Given the description of an element on the screen output the (x, y) to click on. 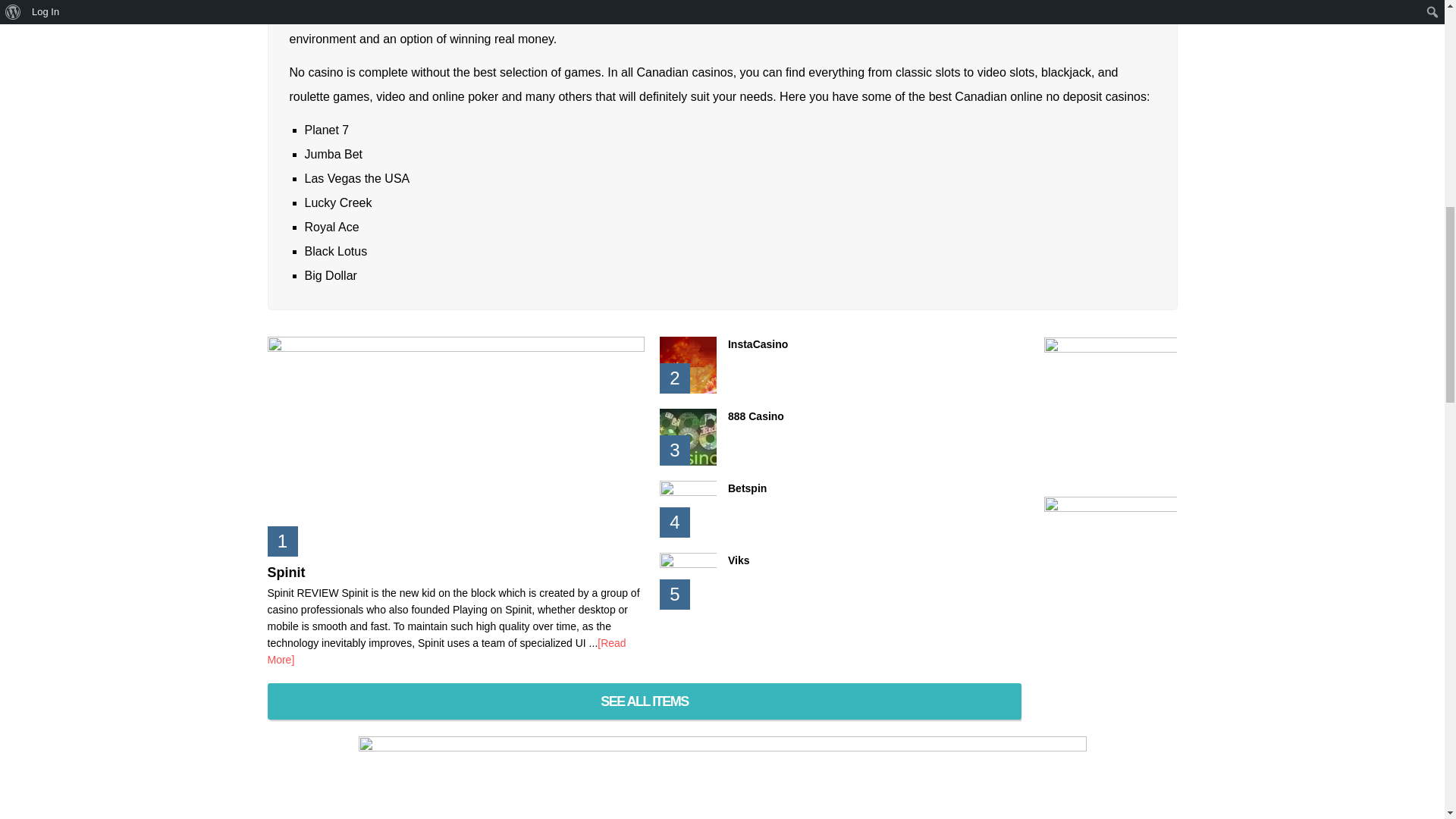
3 (687, 437)
1 (454, 446)
Spinit (285, 572)
InstaCasino (687, 364)
Spinit (446, 651)
InstaCasino (757, 344)
latest 2020 promotional bonus offers here (687, 14)
888 Casino (756, 416)
Spinit (454, 446)
Spinit (285, 572)
